Given the description of an element on the screen output the (x, y) to click on. 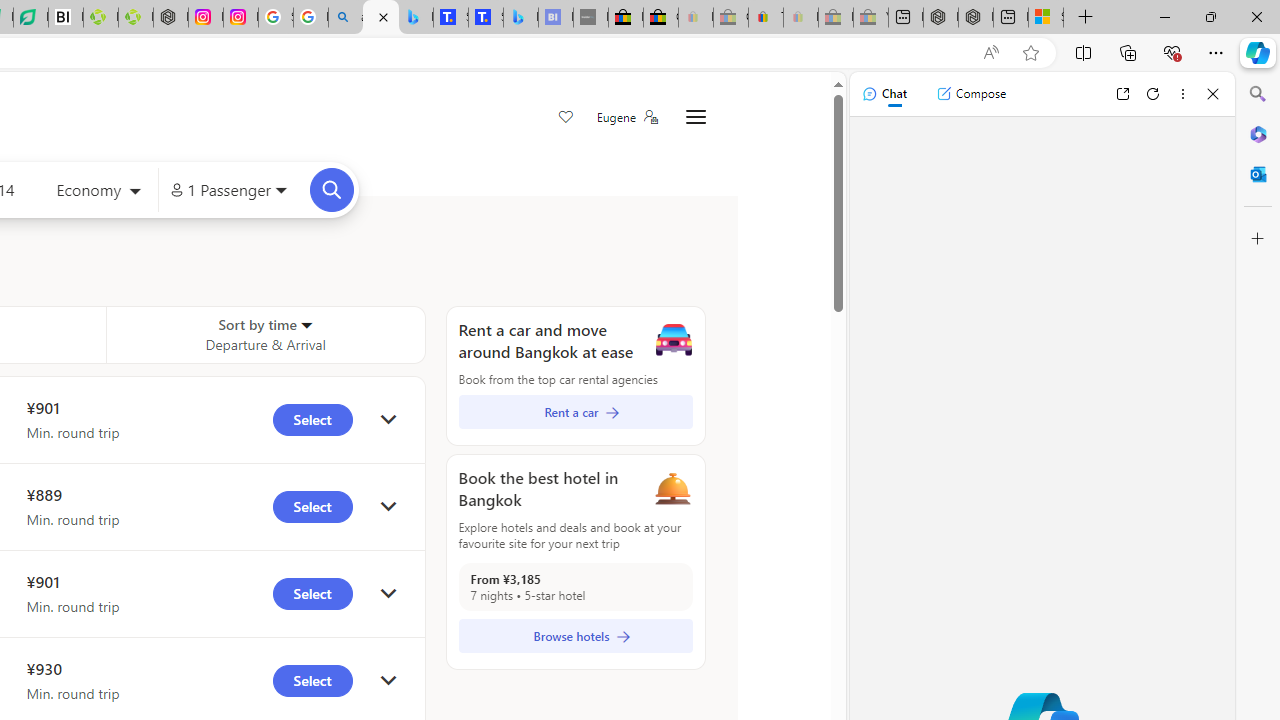
click to get details (388, 680)
Nvidia va a poner a prueba la paciencia de los inversores (65, 17)
Sign in to your Microsoft account (1046, 17)
Microsoft Bing Travel - Flights from Hong Kong to Bangkok (380, 17)
alabama high school quarterback dies - Search (346, 17)
Threats and offensive language policy | eBay (765, 17)
Browse hotels (575, 636)
Yard, Garden & Outdoor Living - Sleeping (870, 17)
